Given the description of an element on the screen output the (x, y) to click on. 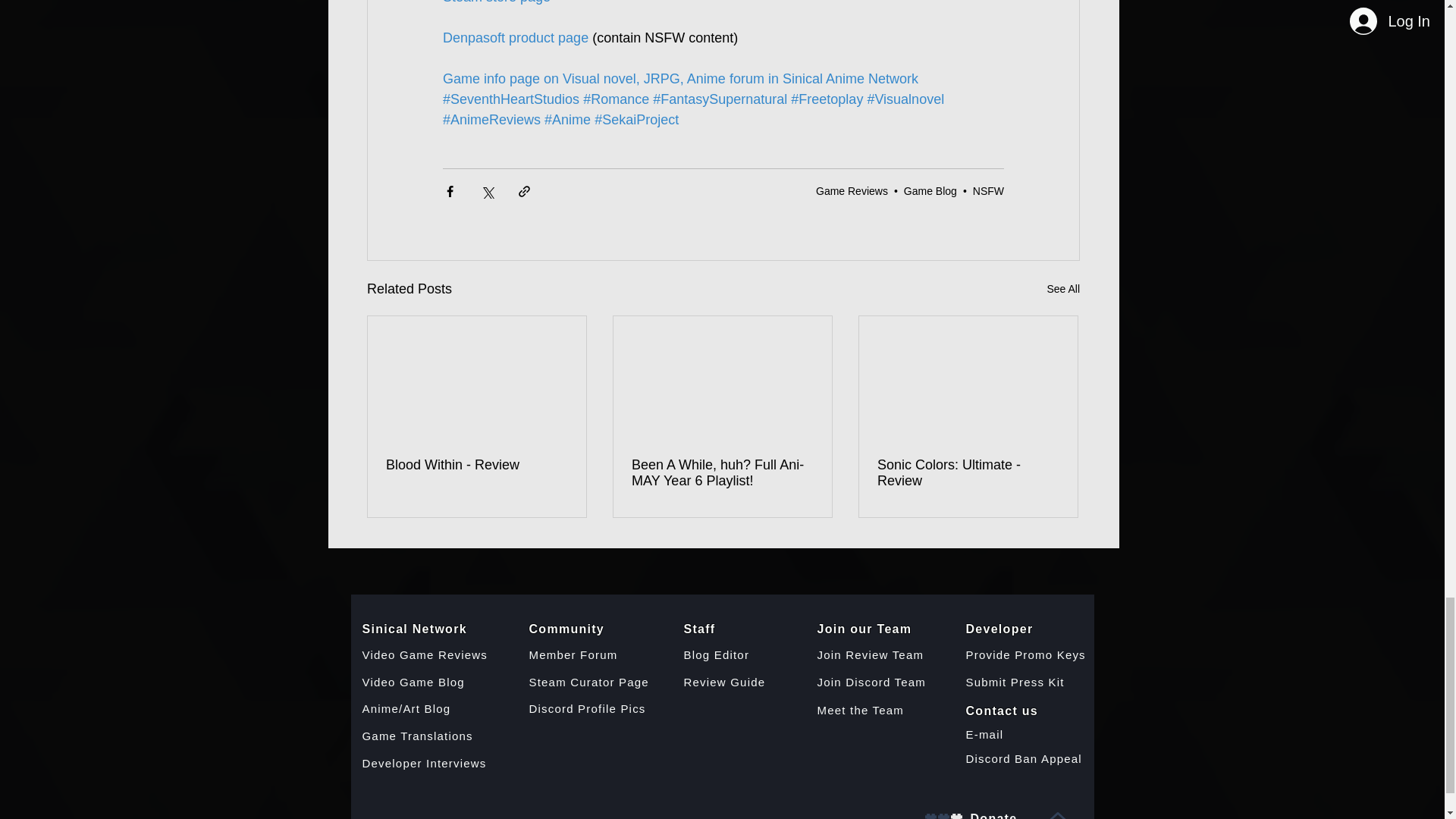
Steam store page (496, 2)
Denpasoft product page (515, 37)
